Given the description of an element on the screen output the (x, y) to click on. 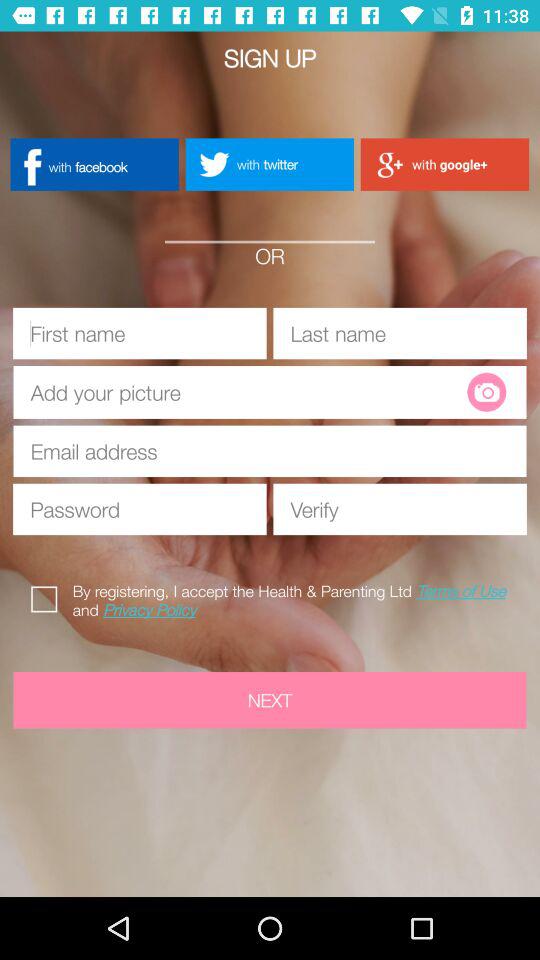
open with facebook icon (94, 164)
